Given the description of an element on the screen output the (x, y) to click on. 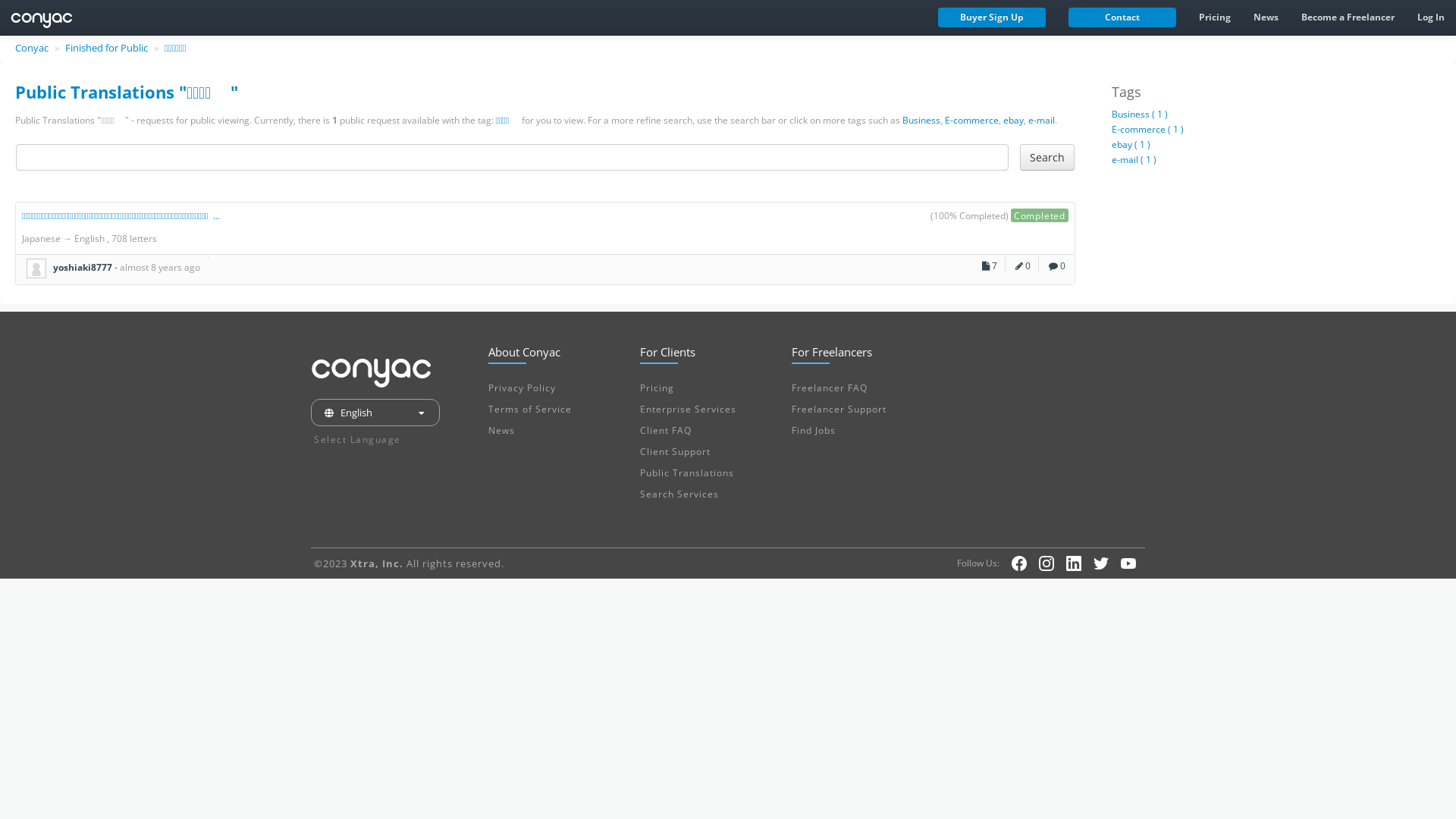
Instagram Element type: hover (1046, 562)
Finished for Public Element type: text (107, 47)
ebay Element type: text (1013, 119)
Enterprise Services Element type: text (688, 408)
Search Services Element type: text (679, 493)
Contact Element type: text (1122, 16)
Pricing Element type: text (1214, 17)
Become a Freelancer Element type: text (1347, 17)
Facebook Element type: hover (1018, 562)
Xtra, Inc. Element type: text (376, 563)
yoshiaki8777 Element type: hover (36, 268)
e-mail Element type: text (1041, 119)
Freelancer FAQ Element type: text (829, 387)
ebay ( 1 ) Element type: text (1130, 144)
E-commerce Element type: text (971, 119)
YouTube Element type: hover (1127, 562)
News Element type: text (501, 429)
Business ( 1 ) Element type: text (1139, 113)
Client FAQ Element type: text (665, 429)
Conyac Element type: text (32, 47)
Pricing Element type: text (657, 387)
conyac Element type: text (39, 15)
Privacy Policy Element type: text (521, 387)
Public Translations Element type: text (687, 472)
Terms of Service Element type: text (529, 408)
Buyer Sign Up Element type: text (991, 16)
Client Support Element type: text (675, 451)
Business Element type: text (921, 119)
Freelancer Support Element type: text (838, 408)
E-commerce ( 1 ) Element type: text (1147, 128)
Twitter Element type: hover (1100, 562)
News Element type: text (1265, 17)
Find Jobs Element type: text (813, 429)
Search Element type: text (1046, 157)
LinkedIn Element type: hover (1073, 562)
e-mail ( 1 ) Element type: text (1133, 159)
